Given the description of an element on the screen output the (x, y) to click on. 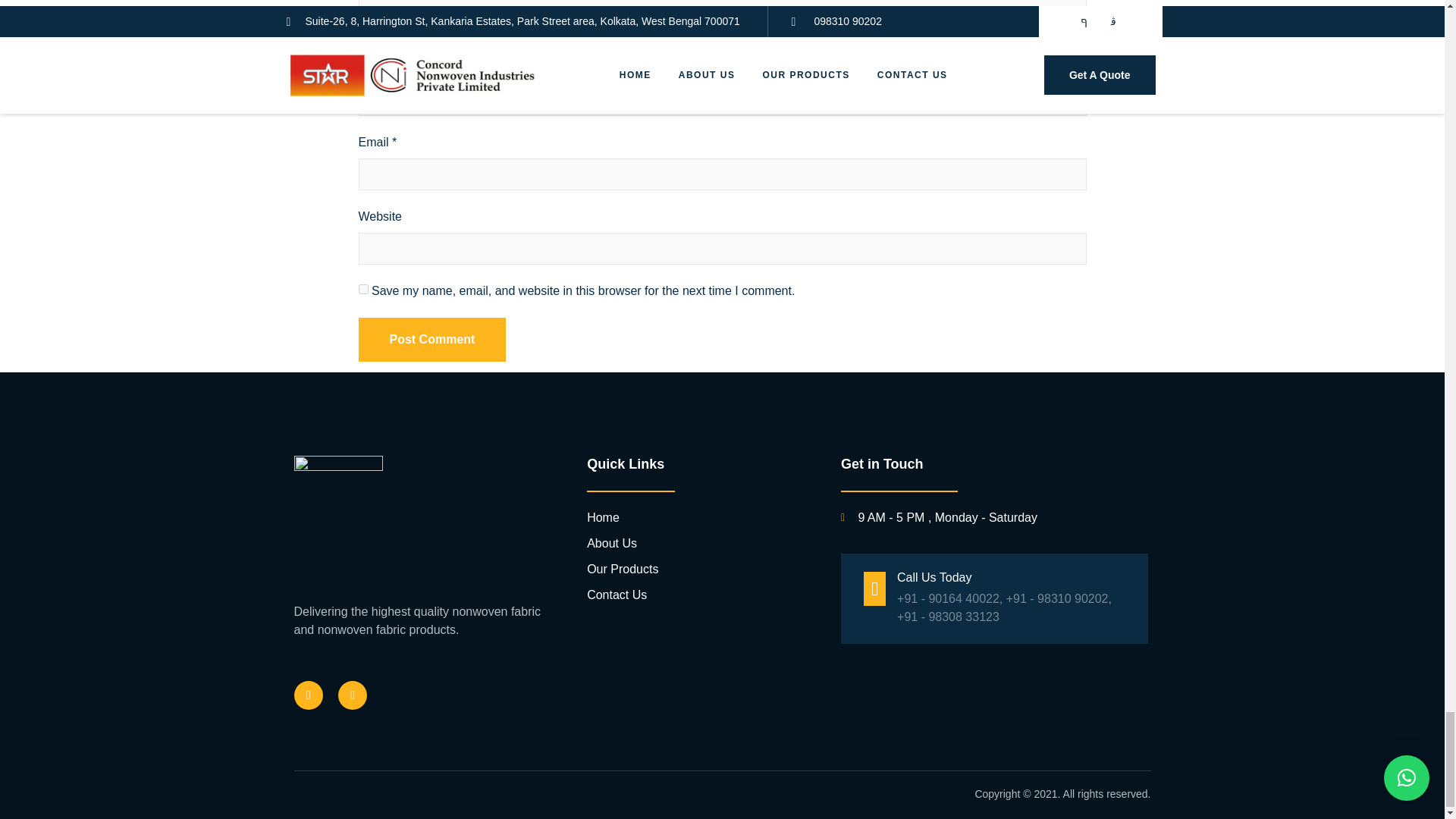
Post Comment (431, 339)
Home (702, 517)
Our Products (702, 569)
Post Comment (431, 339)
Contact Us (702, 595)
yes (363, 289)
About Us (702, 543)
